Given the description of an element on the screen output the (x, y) to click on. 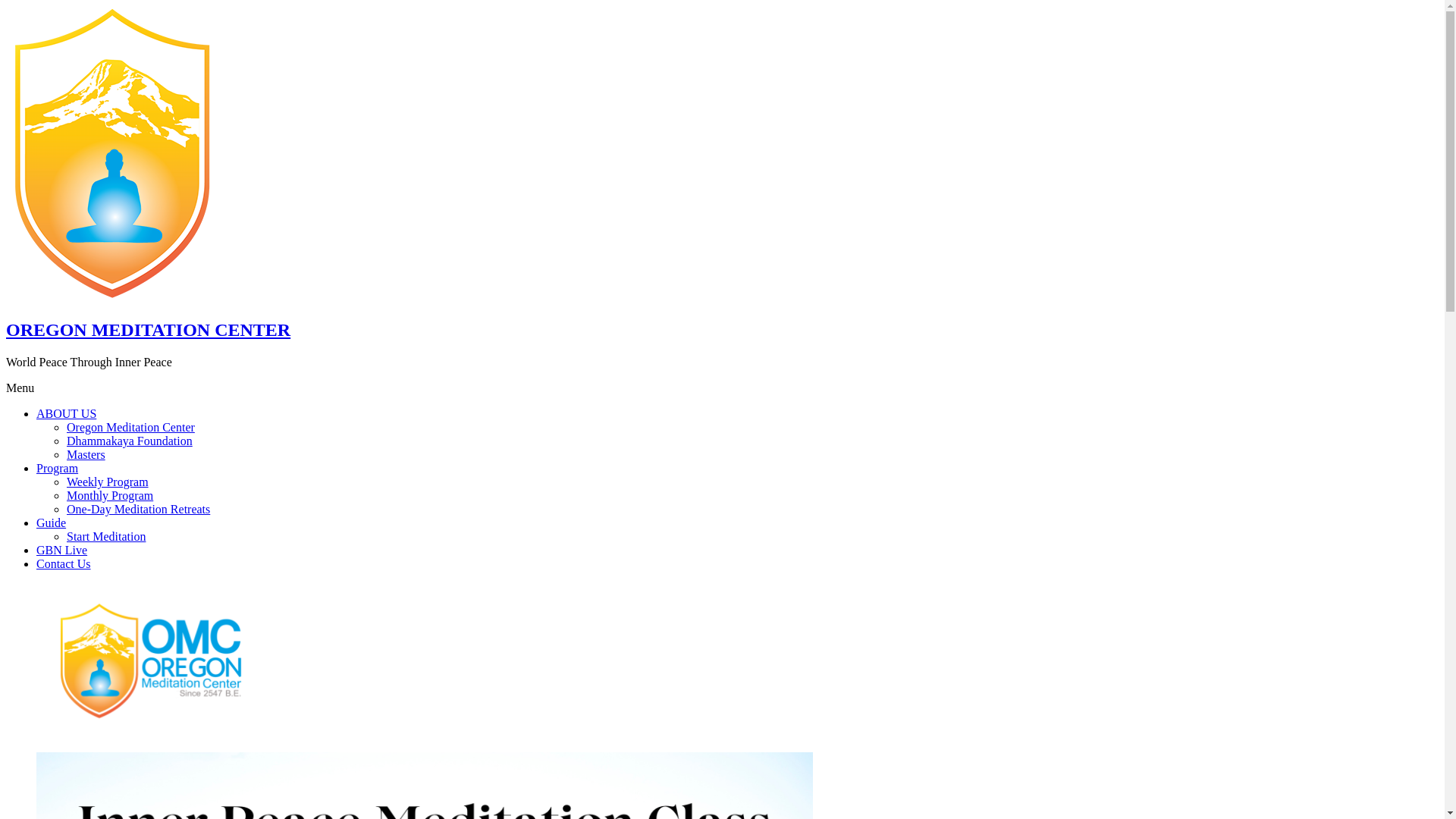
Monthly Program Element type: text (109, 495)
Program Element type: text (57, 467)
OREGON MEDITATION CENTER Element type: text (148, 329)
Weekly Program Element type: text (107, 481)
Masters Element type: text (85, 454)
One-Day Meditation Retreats Element type: text (138, 508)
Oregon Meditation Center Element type: text (130, 426)
Guide Element type: text (50, 522)
Contact Us Element type: text (63, 563)
Start Meditation Element type: text (105, 536)
GBN Live Element type: text (61, 549)
ABOUT US Element type: text (66, 413)
Dhammakaya Foundation Element type: text (129, 440)
